Given the description of an element on the screen output the (x, y) to click on. 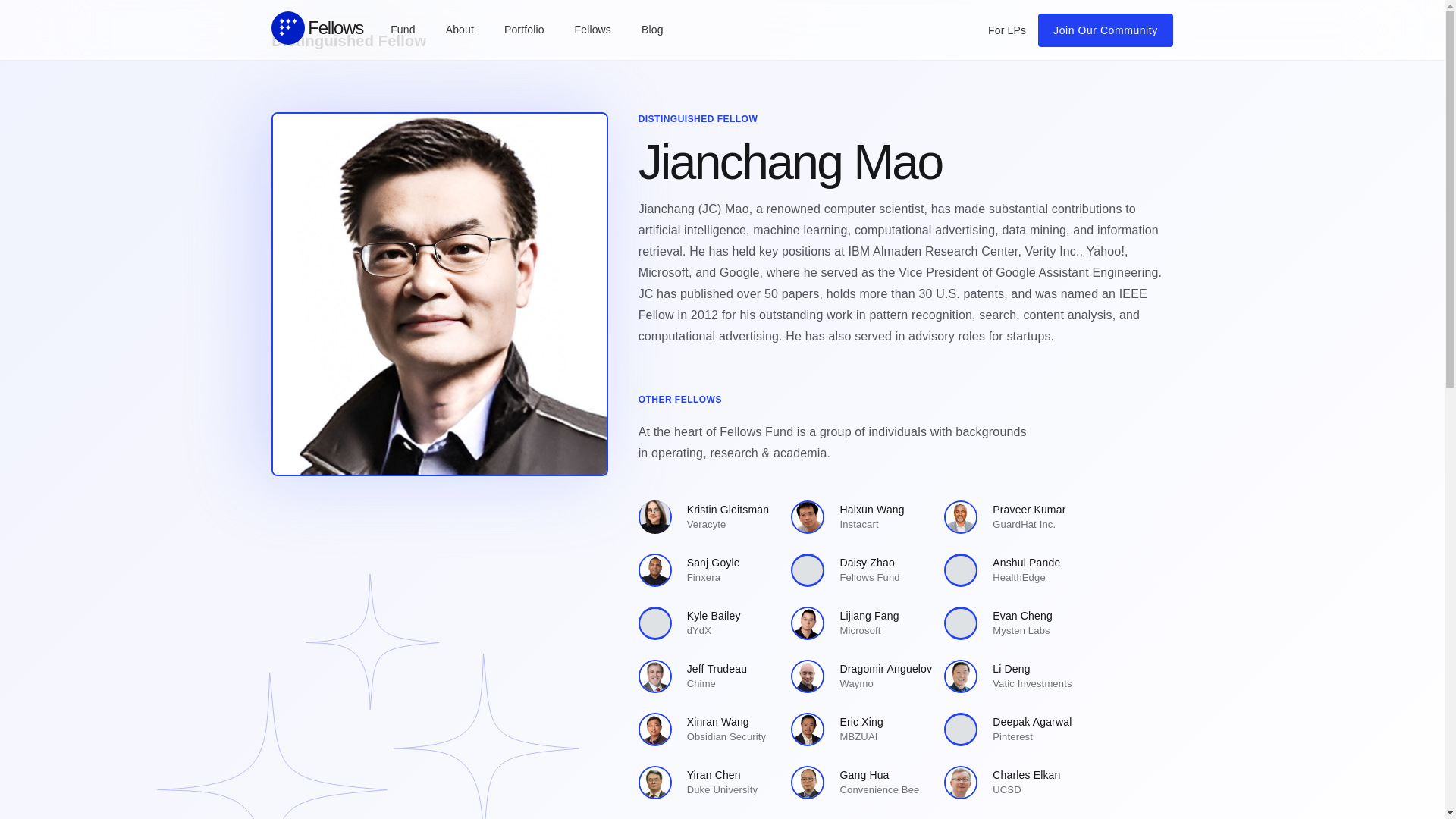
About (459, 29)
Fund (860, 729)
Join Our Community (860, 516)
